Given the description of an element on the screen output the (x, y) to click on. 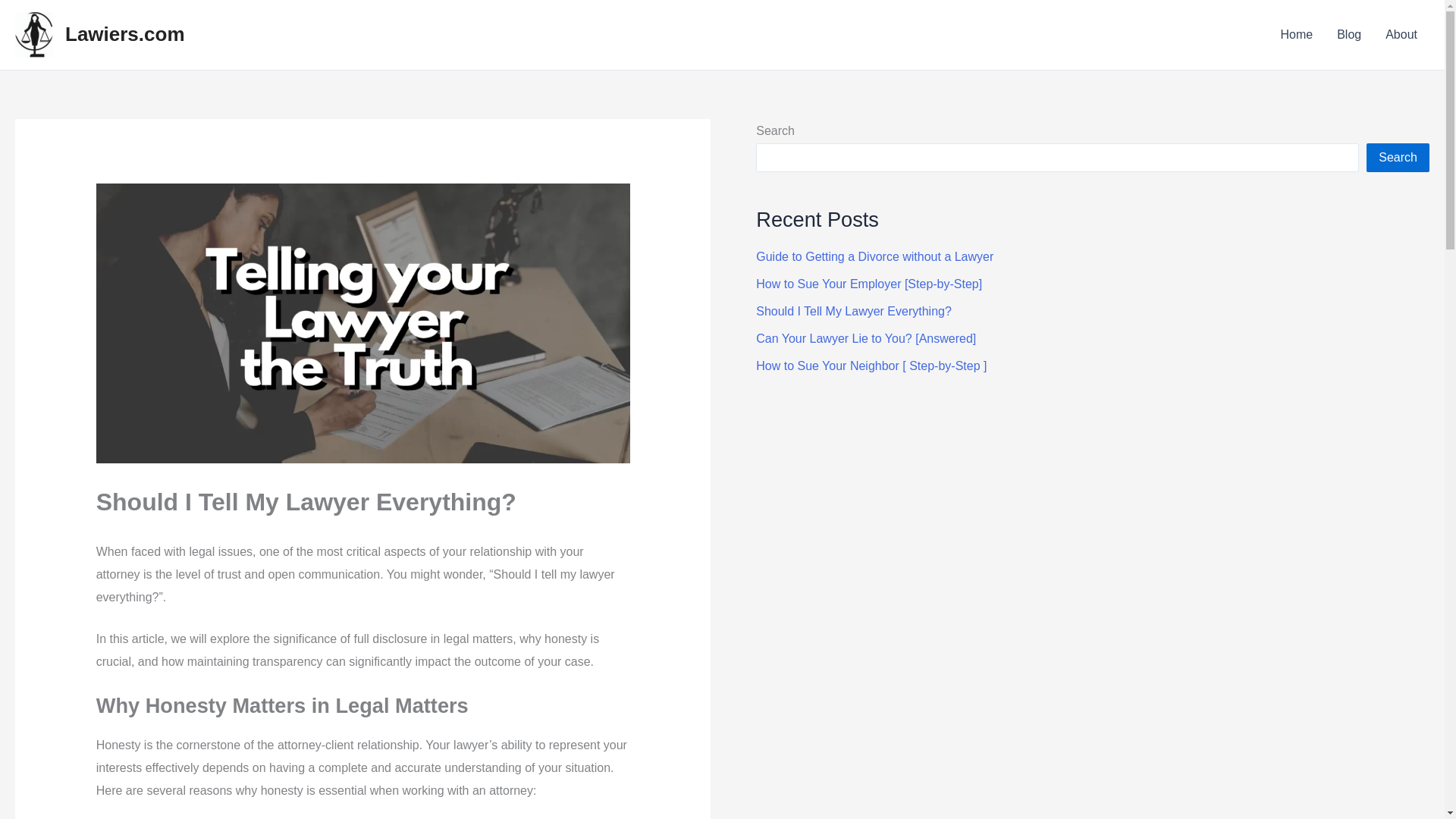
Blog (1348, 34)
Home (1296, 34)
Search (1398, 157)
Lawiers.com (124, 33)
About (1401, 34)
Guide to Getting a Divorce without a Lawyer (873, 256)
Should I Tell My Lawyer Everything? (853, 310)
